Given the description of an element on the screen output the (x, y) to click on. 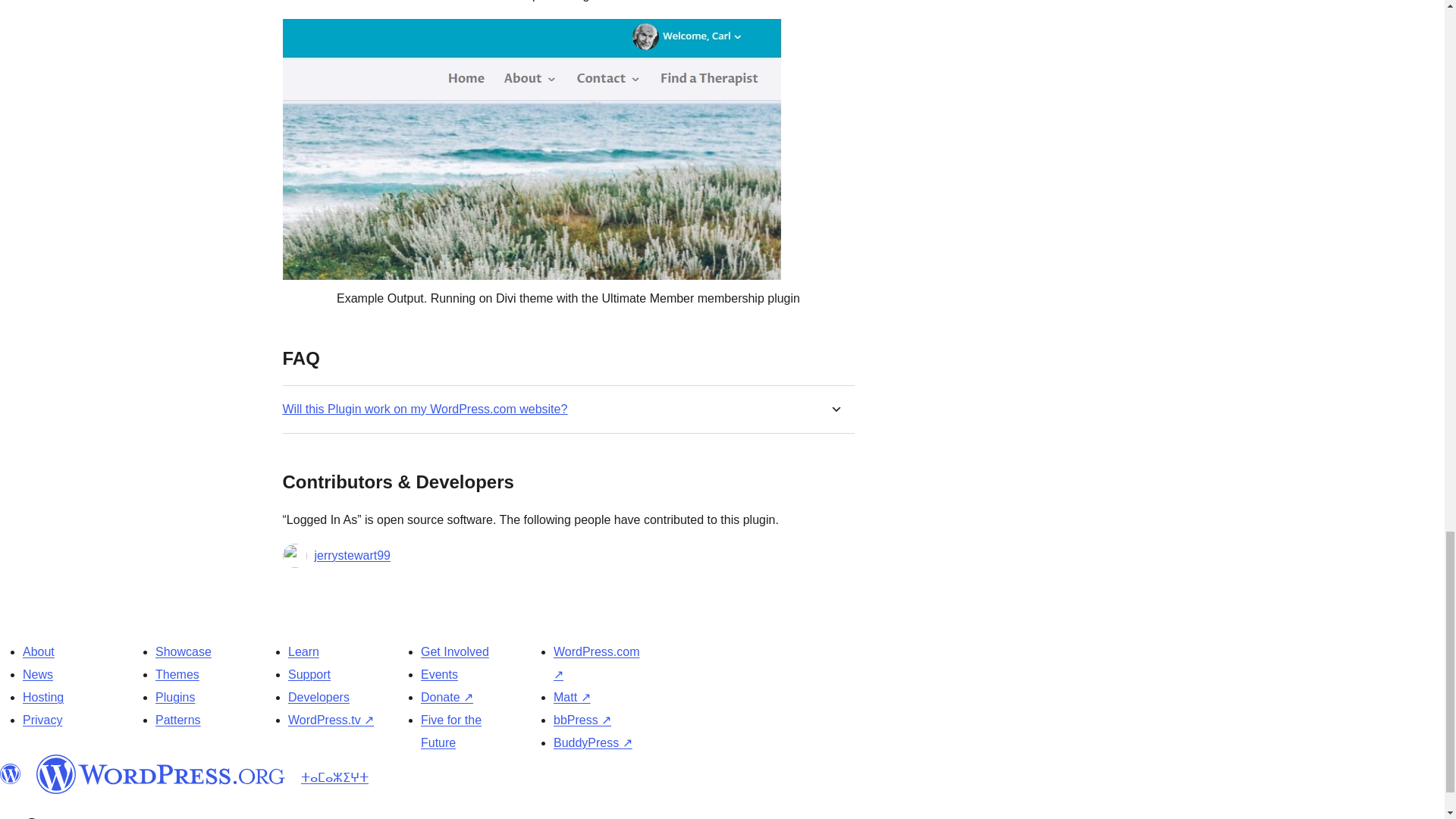
Will this Plugin work on my WordPress.com website? (424, 409)
WordPress.org (10, 773)
WordPress.org (160, 773)
